Given the description of an element on the screen output the (x, y) to click on. 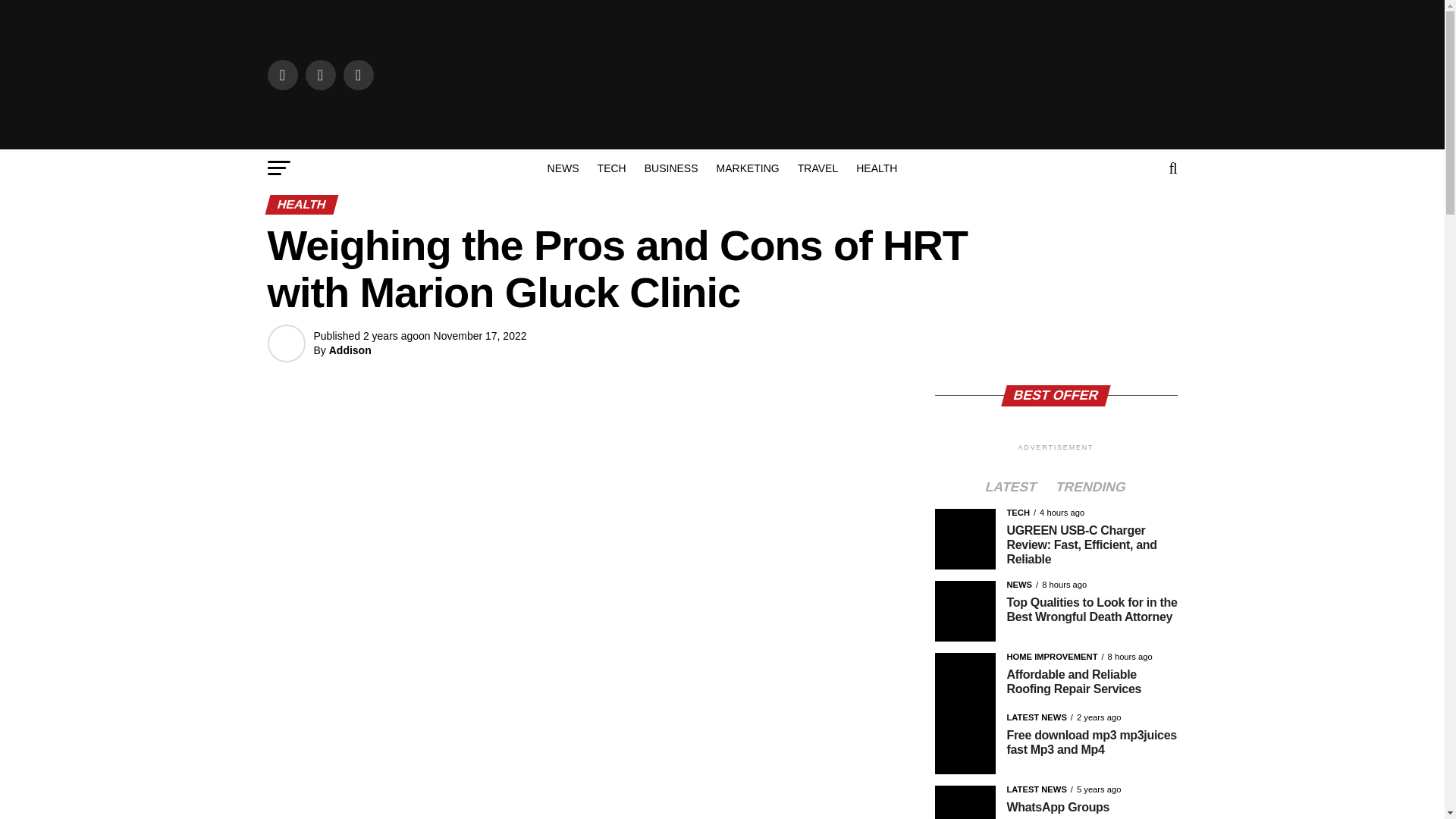
HEALTH (876, 168)
LATEST (1010, 487)
Posts by Addison (350, 349)
MARKETING (748, 168)
NEWS (563, 168)
TRENDING (1090, 487)
TECH (611, 168)
TRAVEL (818, 168)
Addison (350, 349)
BUSINESS (670, 168)
